Given the description of an element on the screen output the (x, y) to click on. 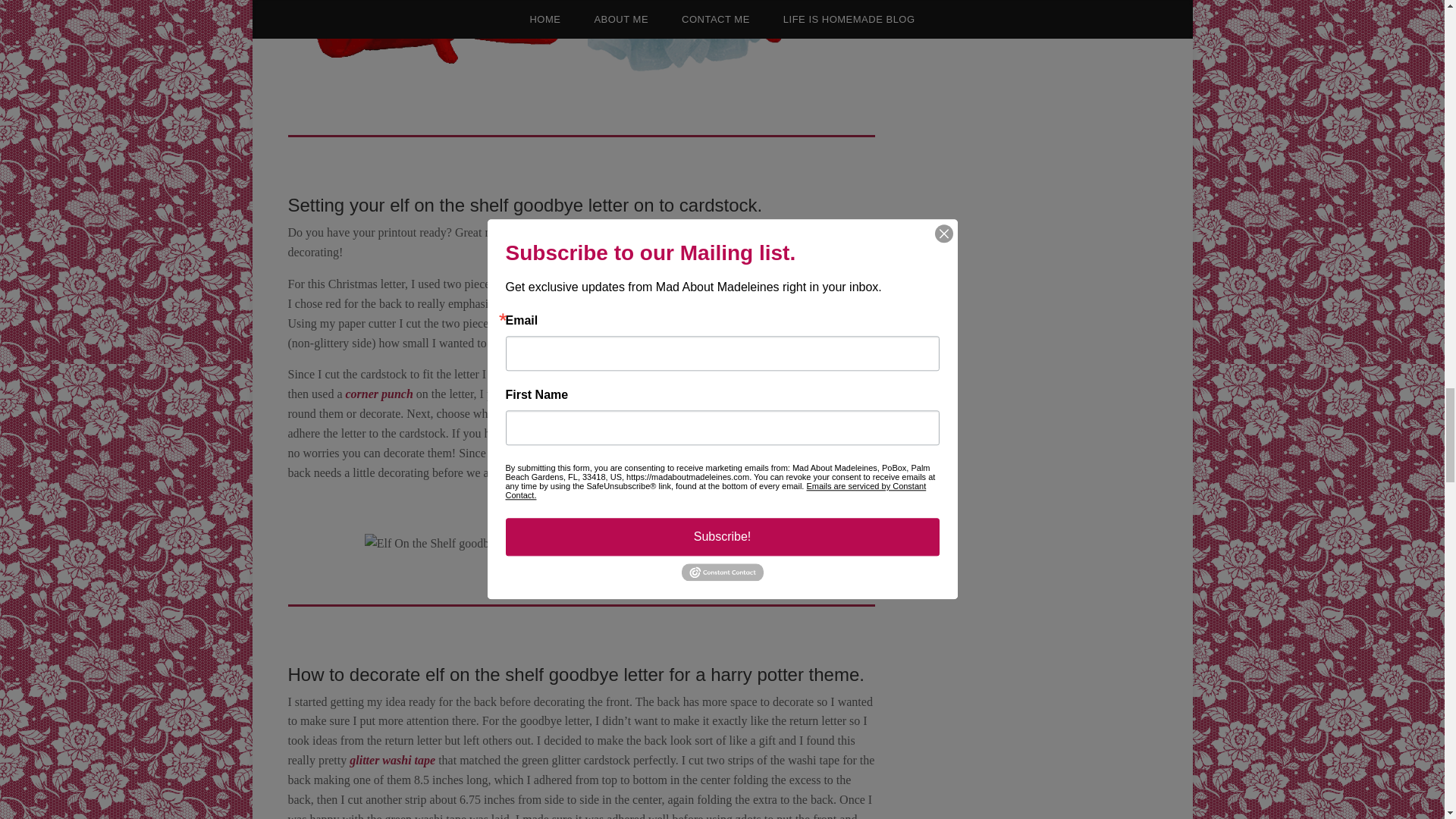
zots (840, 413)
corner punch (378, 393)
glitter washi tape (392, 759)
paper cutter (753, 232)
